Given the description of an element on the screen output the (x, y) to click on. 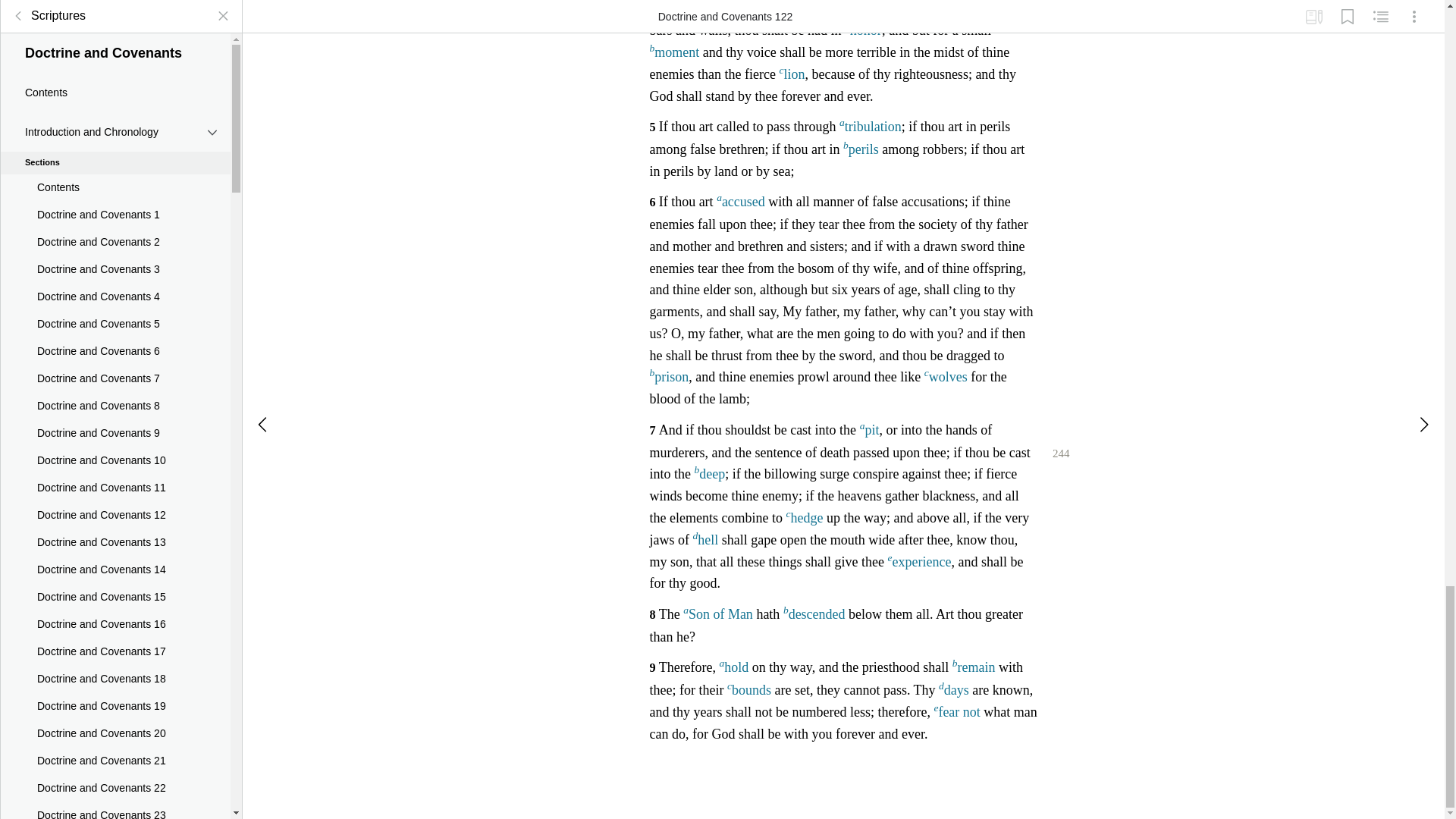
Doctrine and Covenants 35 (115, 687)
Doctrine and Covenants 17 (115, 196)
Doctrine and Covenants 21 (115, 306)
Doctrine and Covenants 12 (115, 60)
Doctrine and Covenants 15 (115, 142)
Doctrine and Covenants 33 (115, 633)
Doctrine and Covenants 11 (115, 32)
Doctrine and Covenants 22 (115, 333)
Doctrine and Covenants 32 (115, 605)
Doctrine and Covenants 30 (115, 551)
Doctrine and Covenants 24 (115, 388)
Doctrine and Covenants 18 (115, 224)
Doctrine and Covenants 26 (115, 442)
Doctrine and Covenants 23 (115, 360)
Doctrine and Covenants 29 (115, 524)
